Given the description of an element on the screen output the (x, y) to click on. 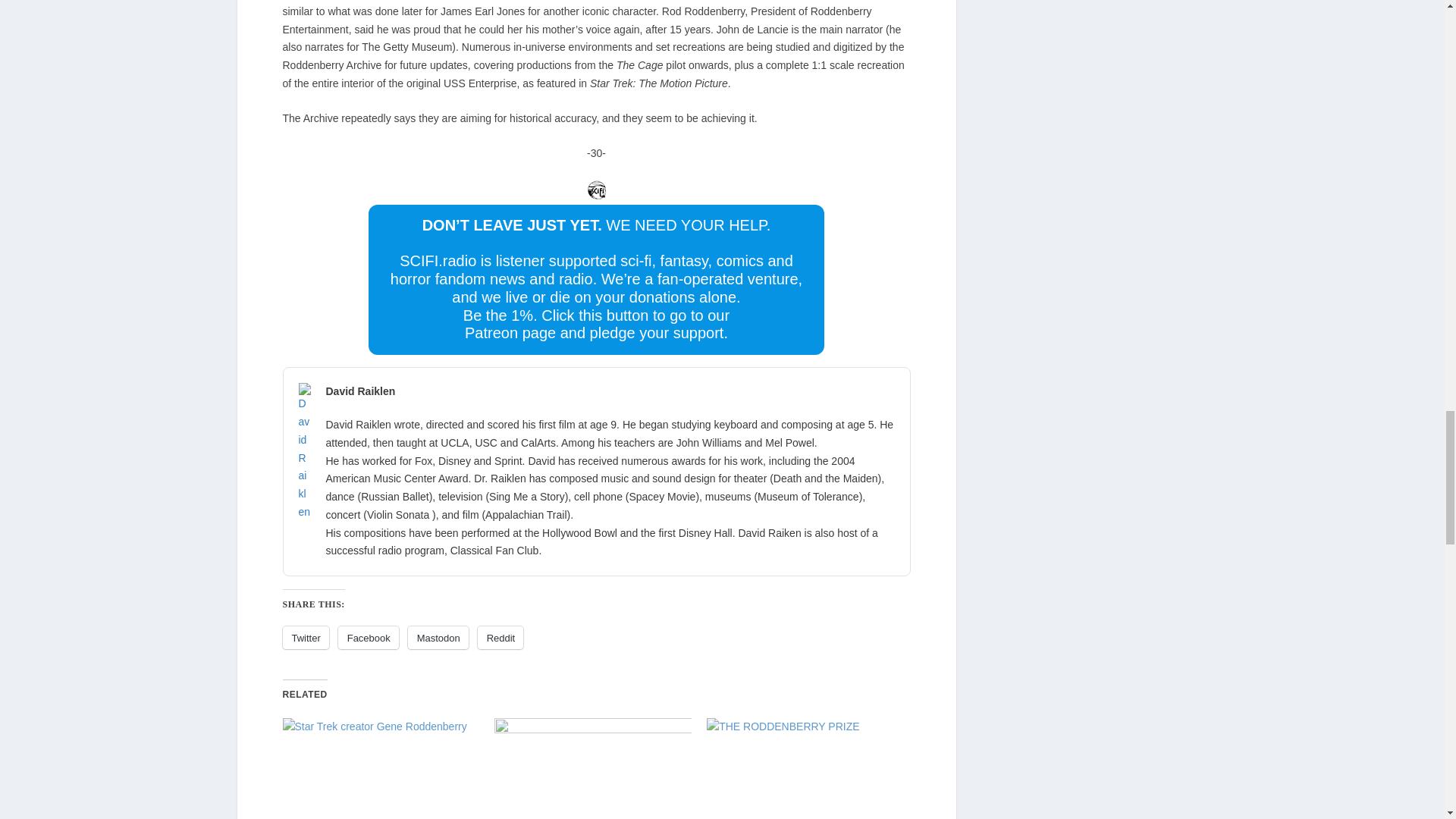
Click to share on Facebook (367, 637)
Click to share on Mastodon (437, 637)
Click to share on Twitter (305, 637)
